Given the description of an element on the screen output the (x, y) to click on. 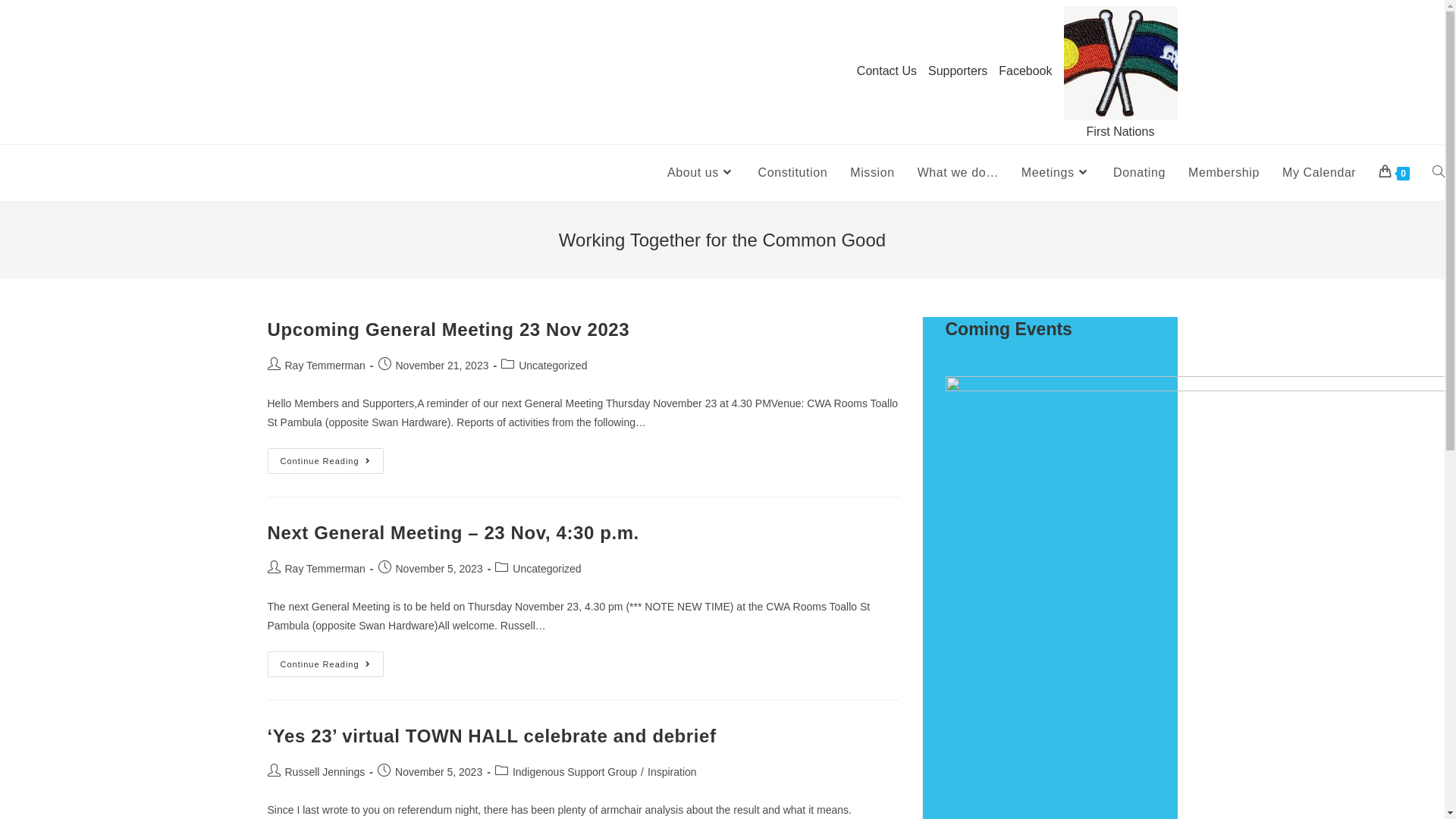
Ray Temmerman Element type: text (325, 365)
My Calendar Element type: text (1318, 172)
Meetings Element type: text (1055, 172)
Uncategorized Element type: text (546, 568)
Membership Element type: text (1223, 172)
Inspiration Element type: text (671, 771)
Russell Jennings Element type: text (325, 771)
Indigenous Support Group Element type: text (574, 771)
Ray Temmerman Element type: text (325, 568)
Supporters Element type: text (957, 71)
Mission Element type: text (871, 172)
Donating Element type: text (1138, 172)
Continue Reading
Upcoming General Meeting 23 Nov 2023 Element type: text (324, 460)
0 Element type: text (1394, 172)
About us Element type: text (700, 172)
Facebook Element type: text (1024, 71)
Contact Us Element type: text (886, 71)
First Nations Element type: text (1119, 72)
Uncategorized Element type: text (552, 365)
Constitution Element type: text (792, 172)
Upcoming General Meeting 23 Nov 2023 Element type: text (447, 329)
